Given the description of an element on the screen output the (x, y) to click on. 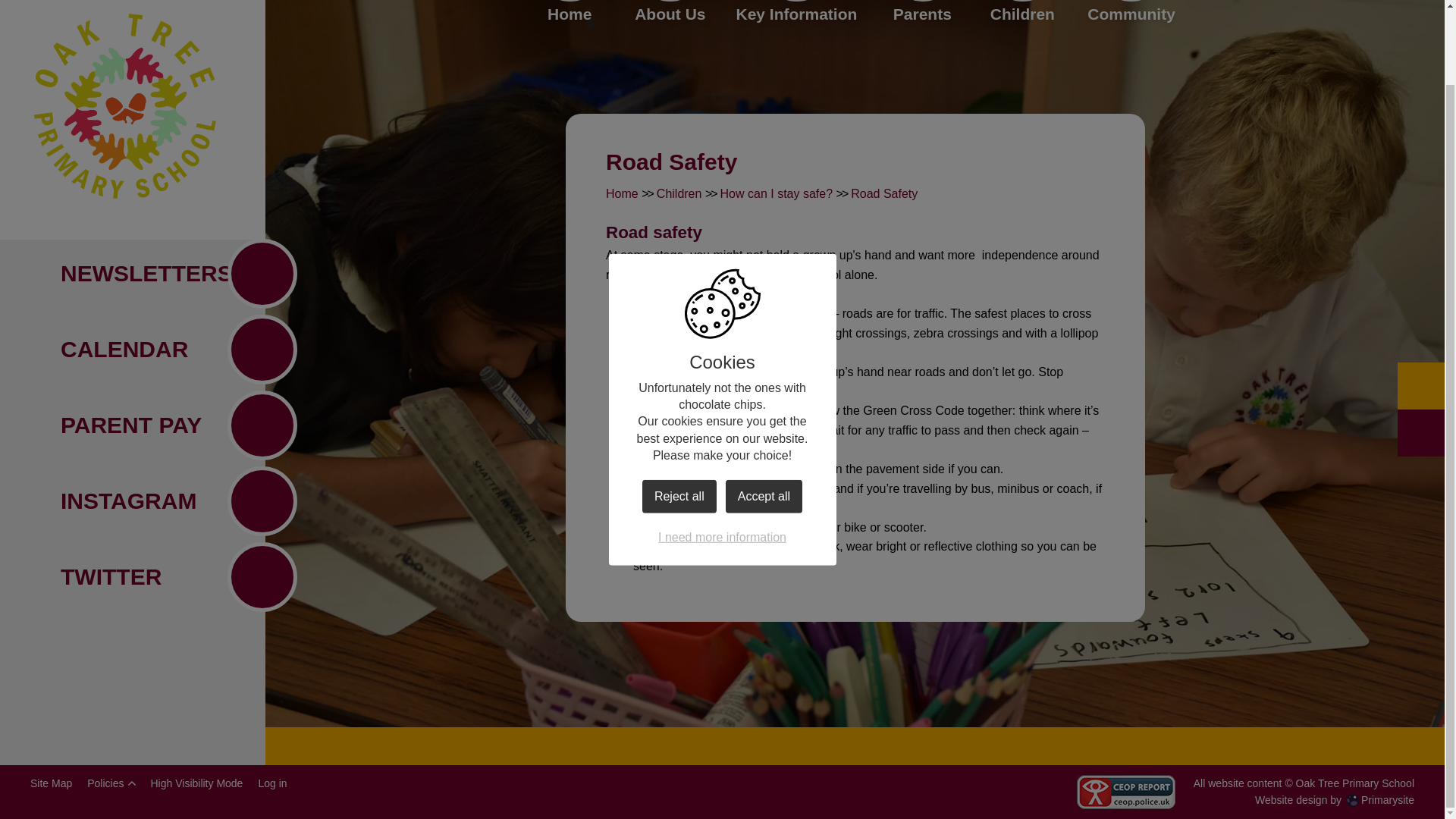
Home Page (124, 58)
Home (569, 13)
About Us (669, 13)
